Given the description of an element on the screen output the (x, y) to click on. 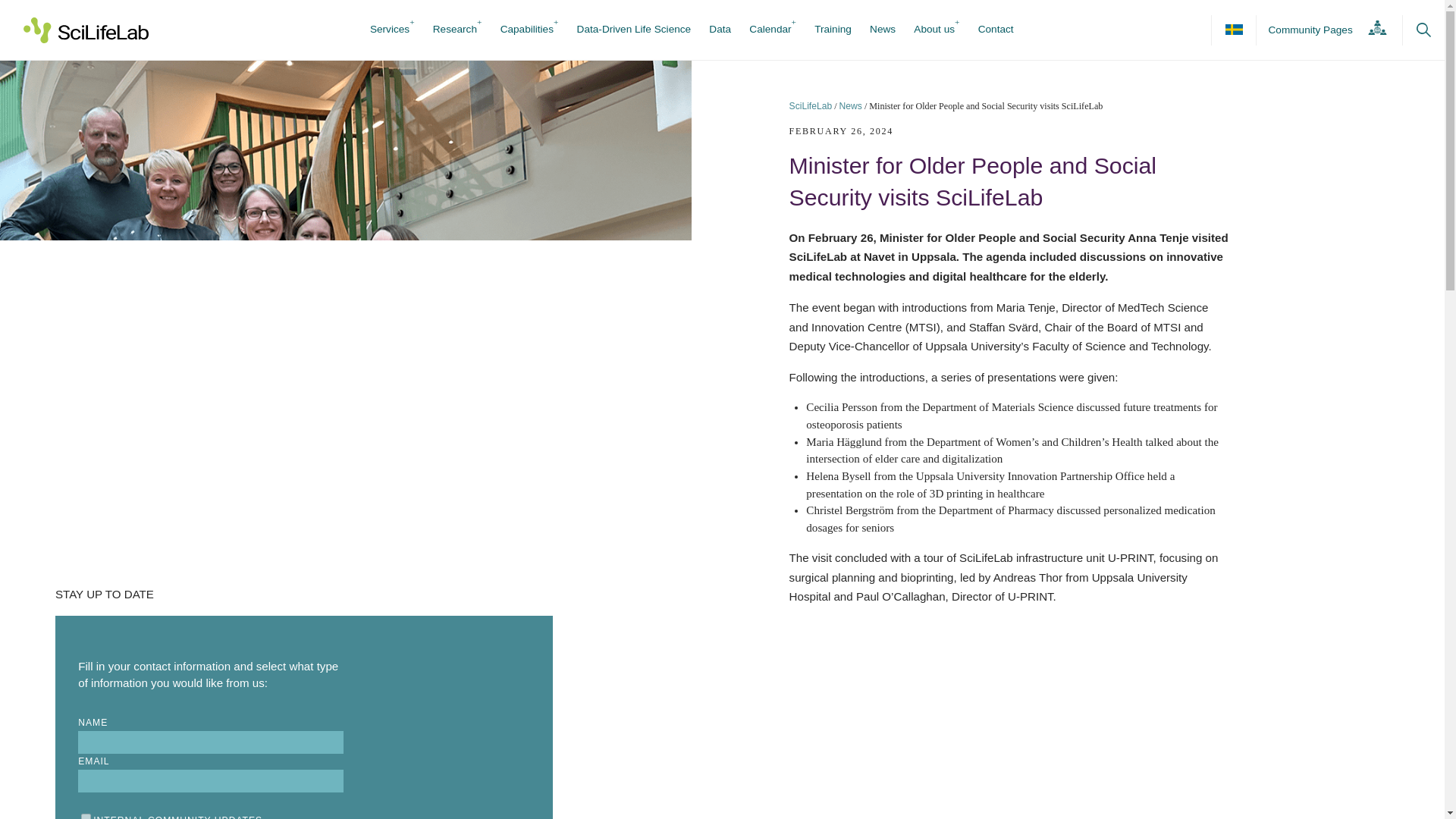
News (850, 105)
Services (389, 29)
About us (934, 29)
Training (832, 29)
Community Pages (1323, 30)
Contact (995, 29)
Capabilities (526, 29)
Data (719, 29)
Community pages (1323, 30)
Research (454, 29)
